Given the description of an element on the screen output the (x, y) to click on. 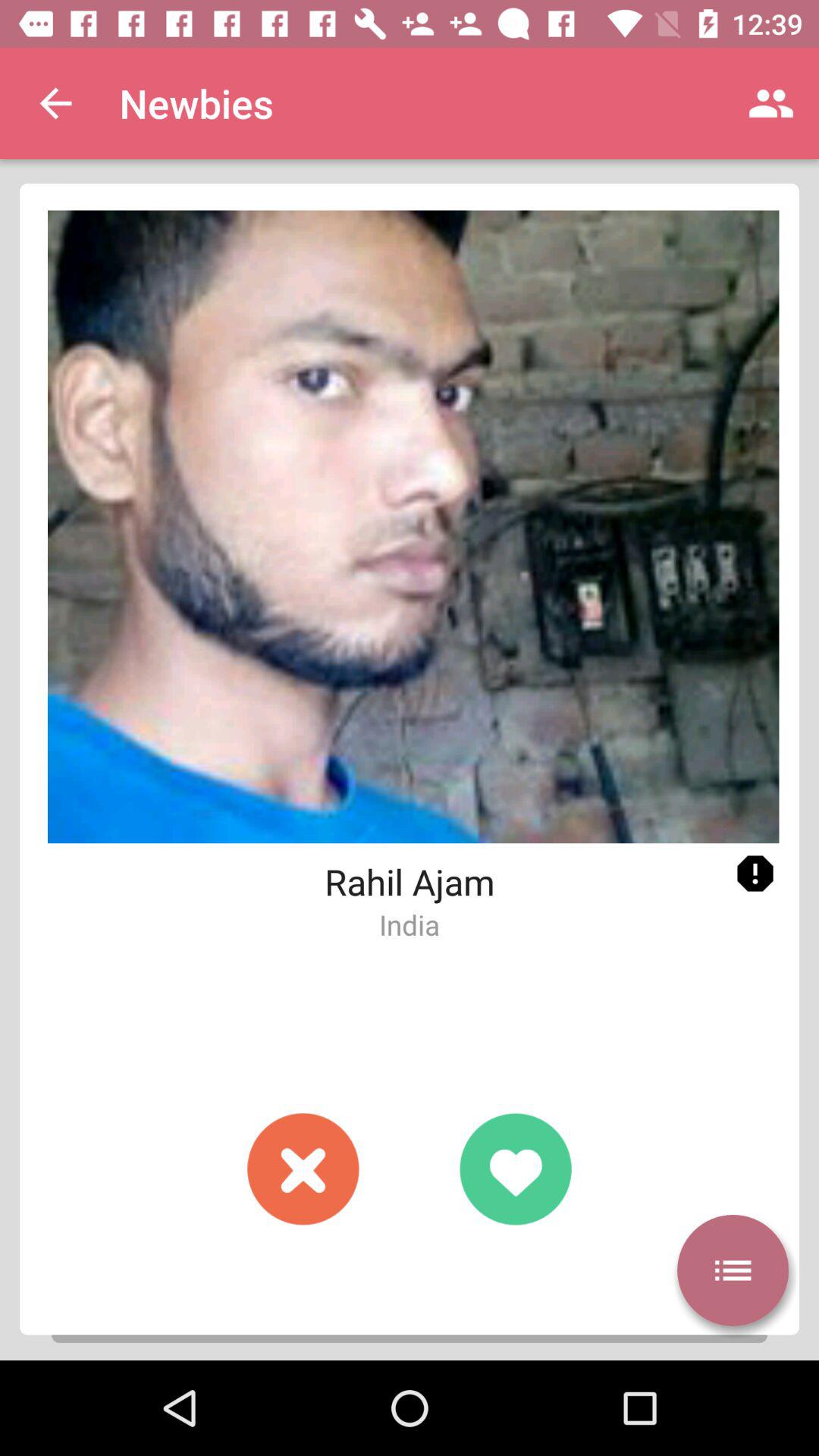
click menu (733, 1270)
